Given the description of an element on the screen output the (x, y) to click on. 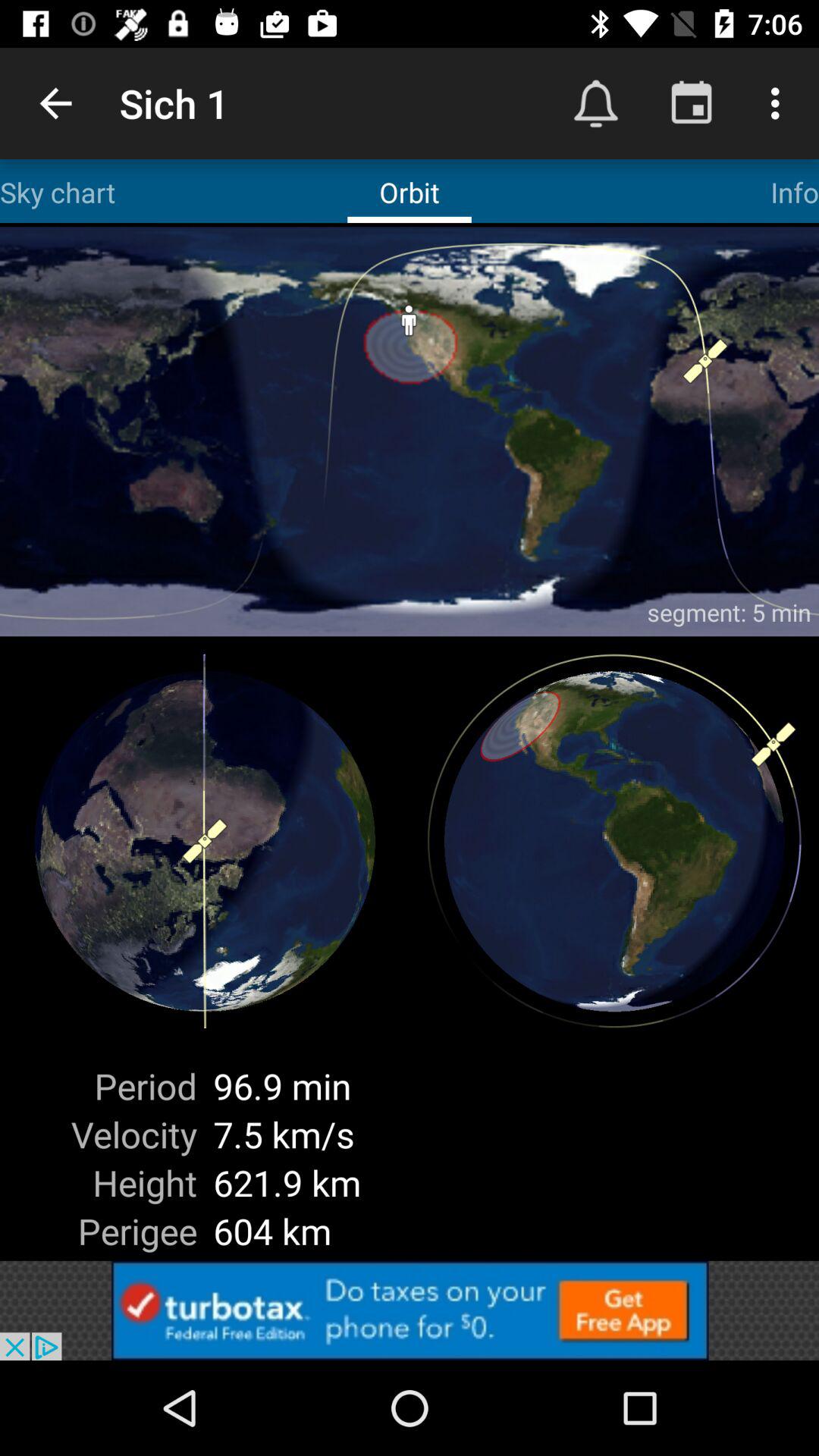
open advertisement (409, 1310)
